Given the description of an element on the screen output the (x, y) to click on. 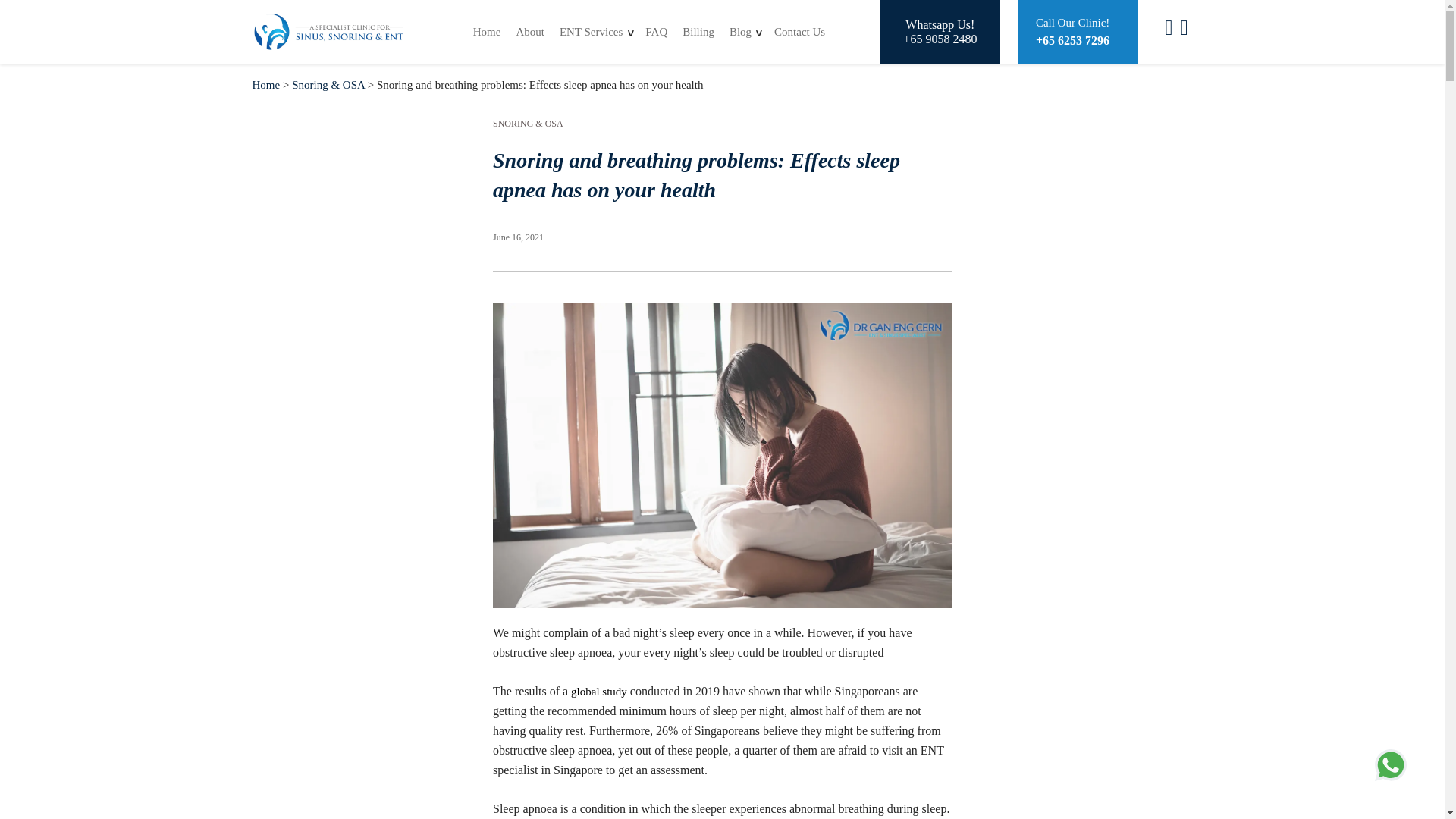
Go to Dr Gan Eng Cern. (265, 84)
